Given the description of an element on the screen output the (x, y) to click on. 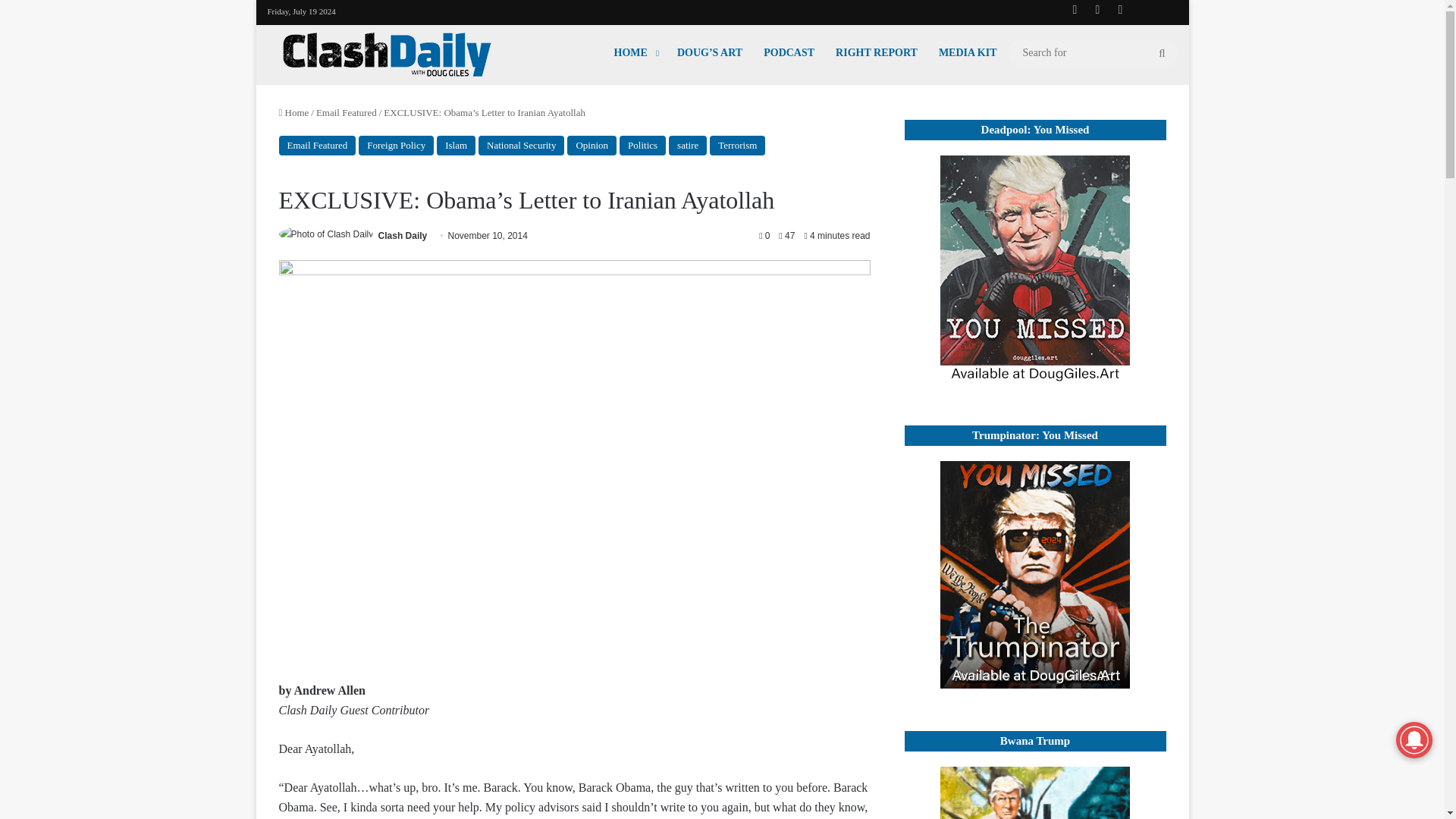
PODCAST (788, 52)
Foreign Policy (395, 145)
Clash Daily (403, 235)
Home (293, 112)
Clash Daily (386, 53)
satire (687, 145)
National Security (521, 145)
Facebook (1074, 9)
Opinion (591, 145)
Terrorism (737, 145)
Instagram (1119, 9)
MEDIA KIT (967, 52)
HOME (635, 52)
Politics (642, 145)
RIGHT REPORT (876, 52)
